Given the description of an element on the screen output the (x, y) to click on. 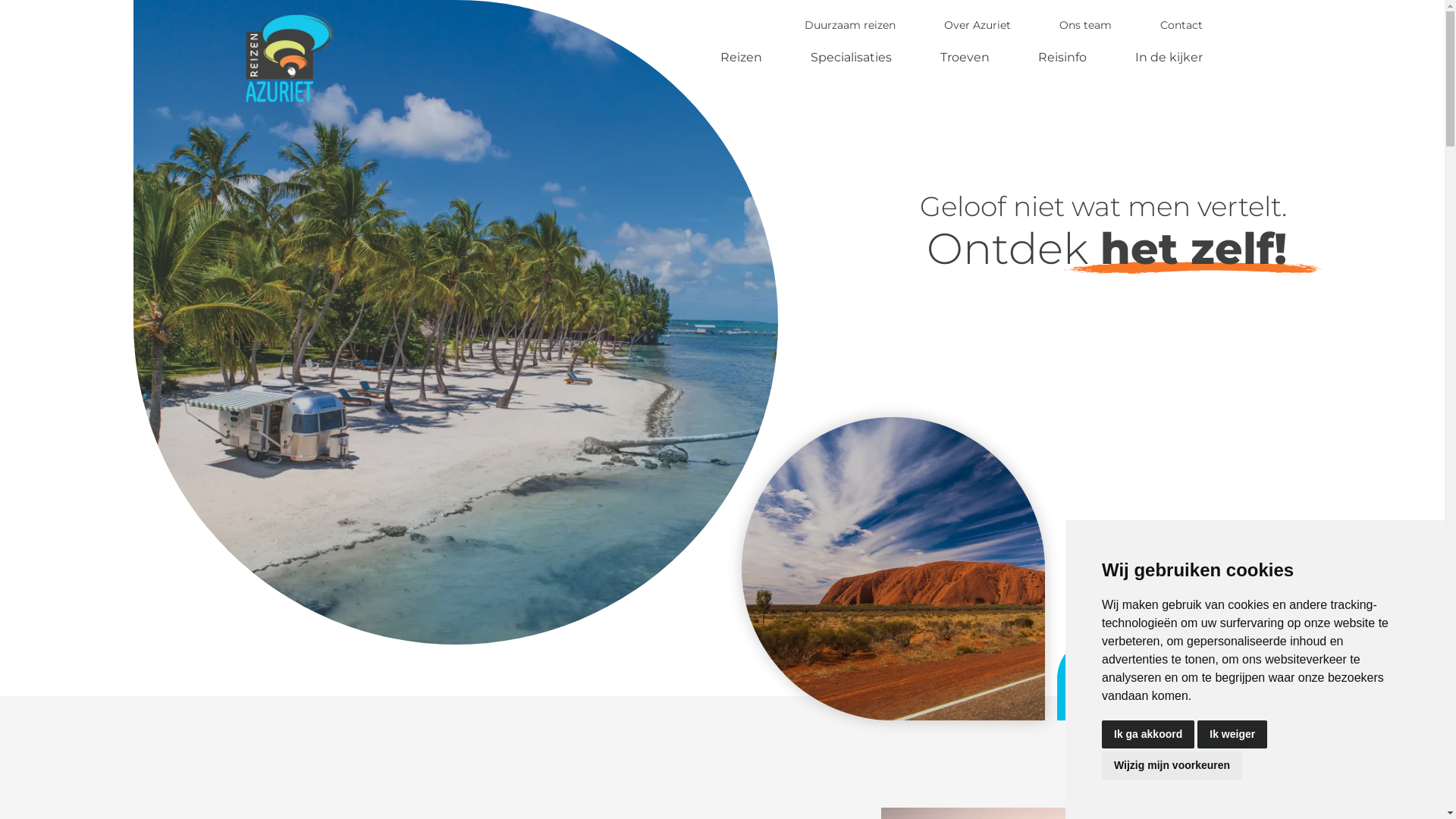
Wijzig mijn voorkeuren Element type: text (1171, 765)
Ons team Element type: text (1085, 24)
Reisinfo Element type: text (1062, 57)
Duurzaam reizen Element type: text (849, 24)
Ik ga akkoord Element type: text (1147, 734)
Contact Element type: text (1181, 24)
Specialisaties Element type: text (850, 57)
Over Azuriet Element type: text (977, 24)
Azuriet Reizen Element type: hover (286, 57)
Reizen Element type: text (741, 57)
Ik weiger Element type: text (1232, 734)
Troeven Element type: text (964, 57)
In de kijker Element type: text (1168, 57)
